Given the description of an element on the screen output the (x, y) to click on. 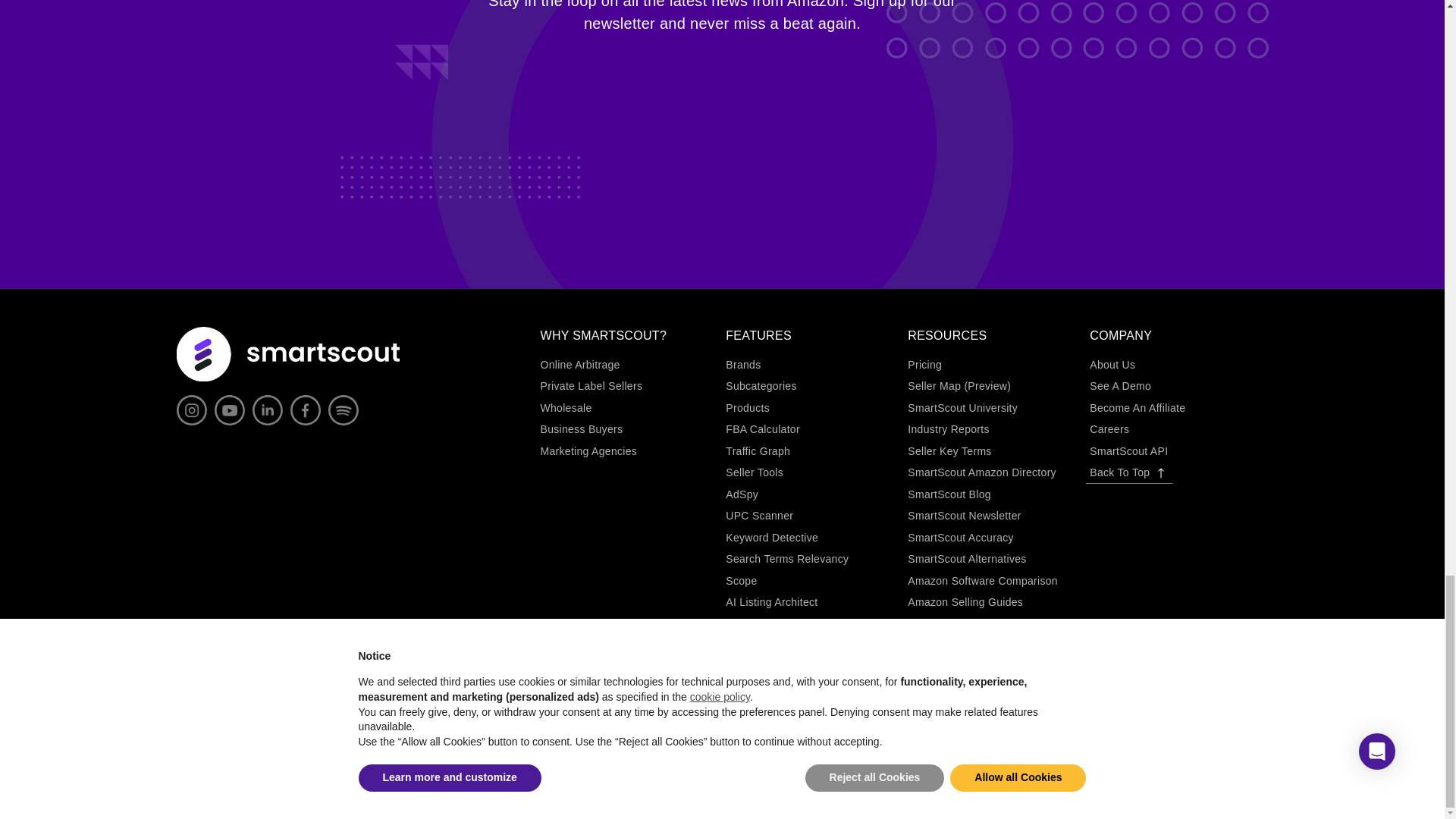
Form 0 (722, 104)
